Given the description of an element on the screen output the (x, y) to click on. 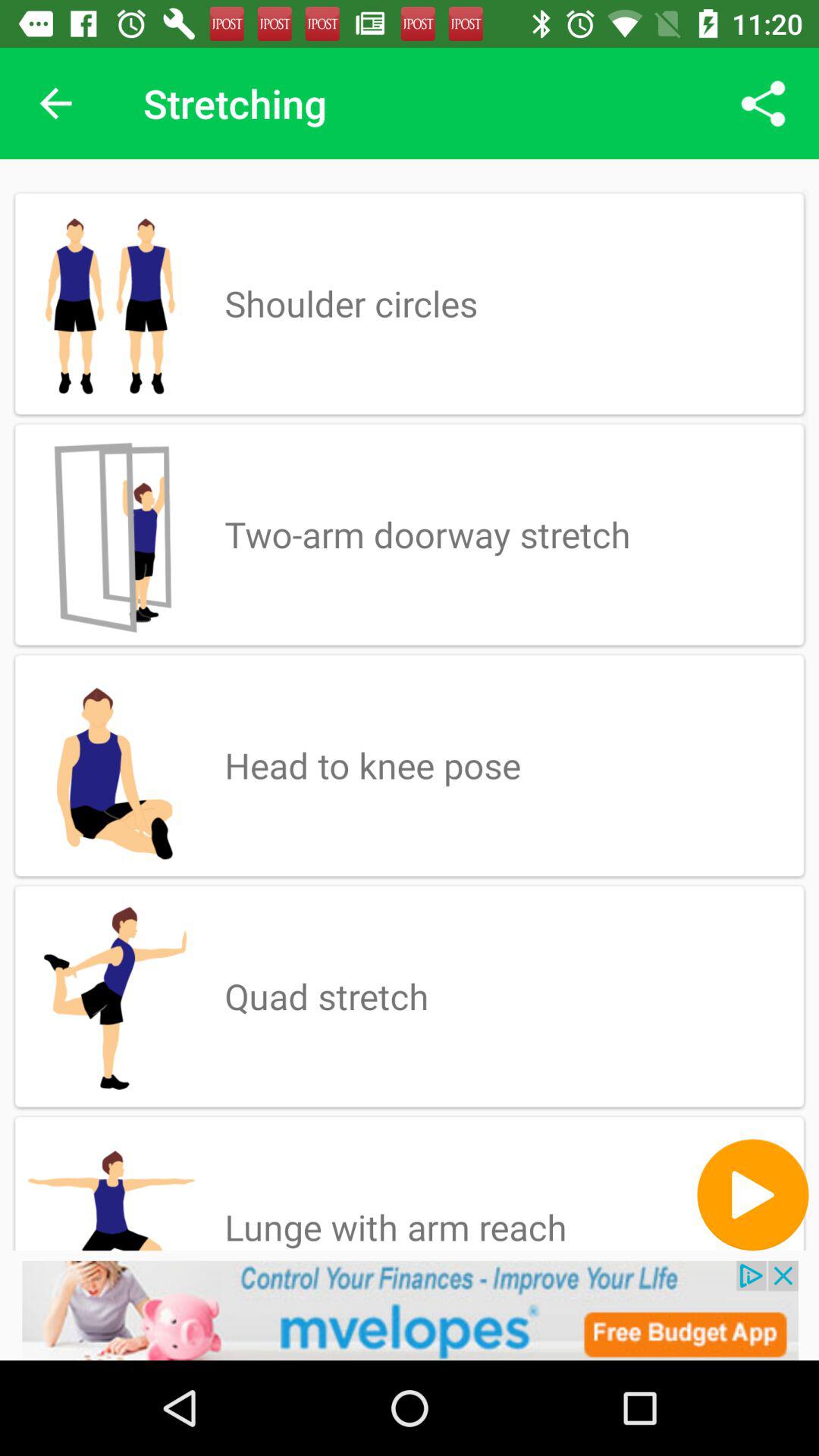
play (752, 1194)
